Given the description of an element on the screen output the (x, y) to click on. 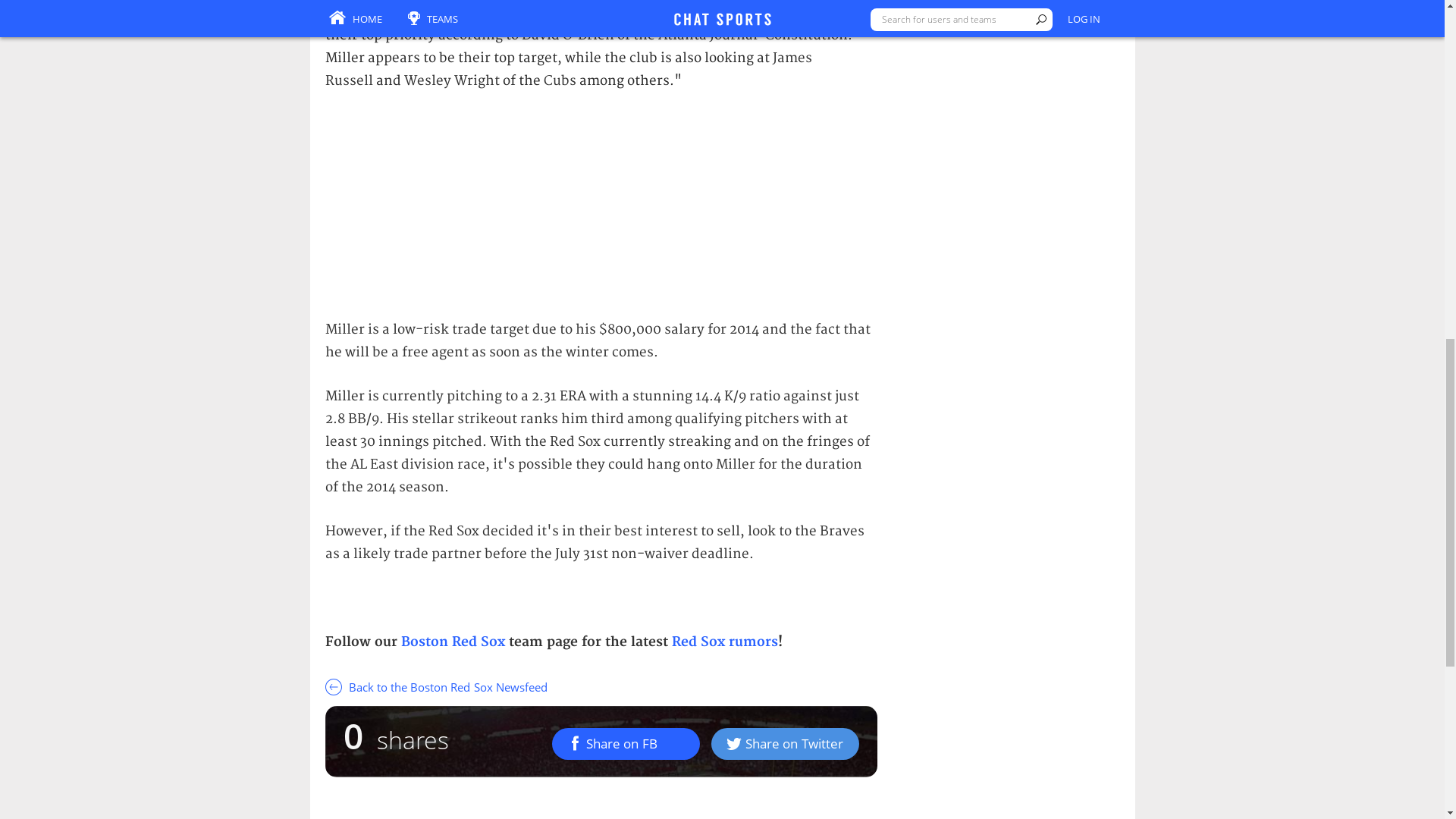
Share on FB (625, 744)
Share on Twitter (785, 744)
3rd party ad content (600, 208)
Red Sox rumors (724, 641)
Boston Red Sox (451, 641)
Back to the Boston Red Sox Newsfeed (600, 686)
